Given the description of an element on the screen output the (x, y) to click on. 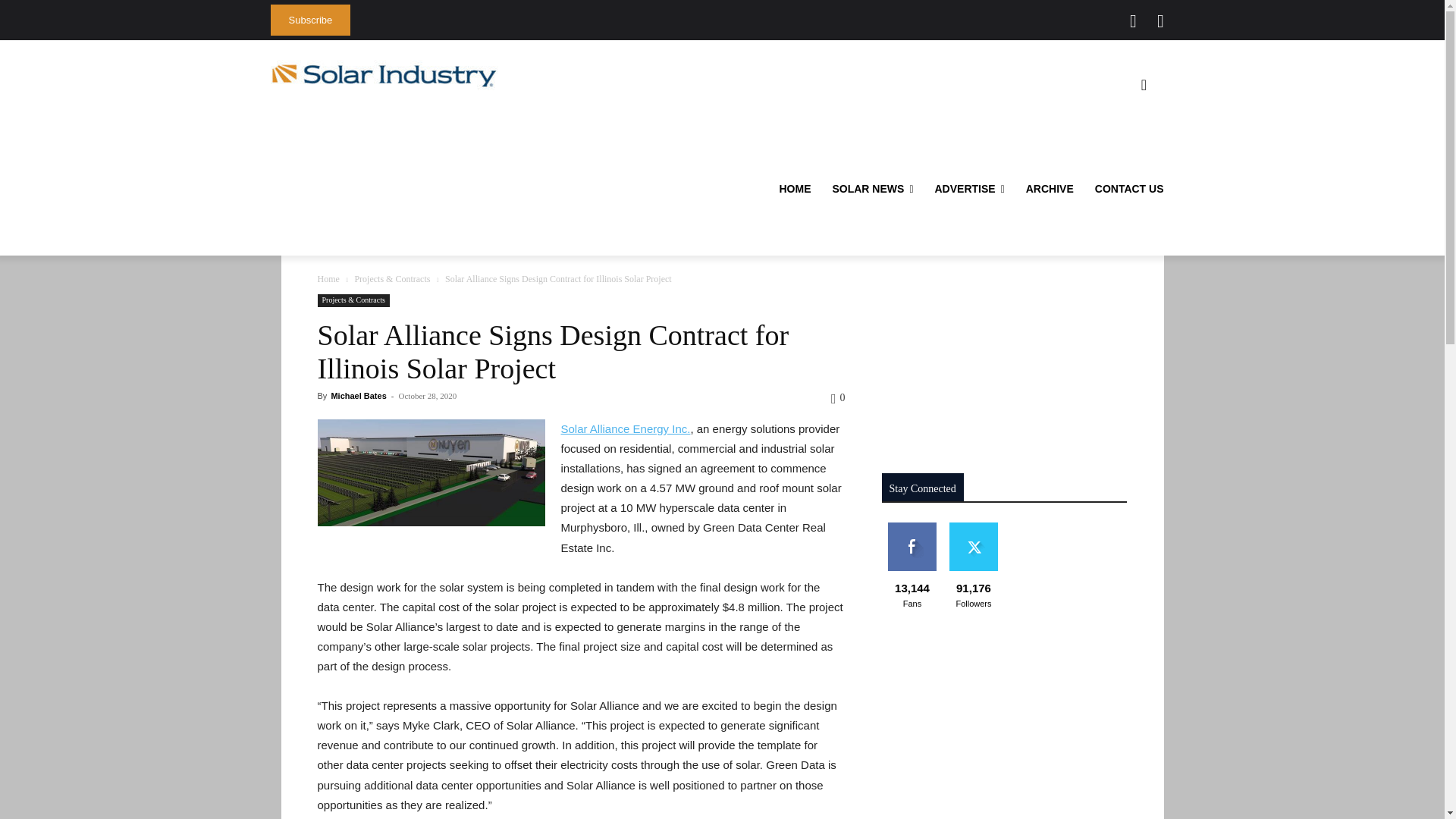
Solar Industry (383, 75)
Rss (1160, 21)
Subscribe (309, 20)
Subscribe (309, 20)
Twitter (1133, 21)
